Given the description of an element on the screen output the (x, y) to click on. 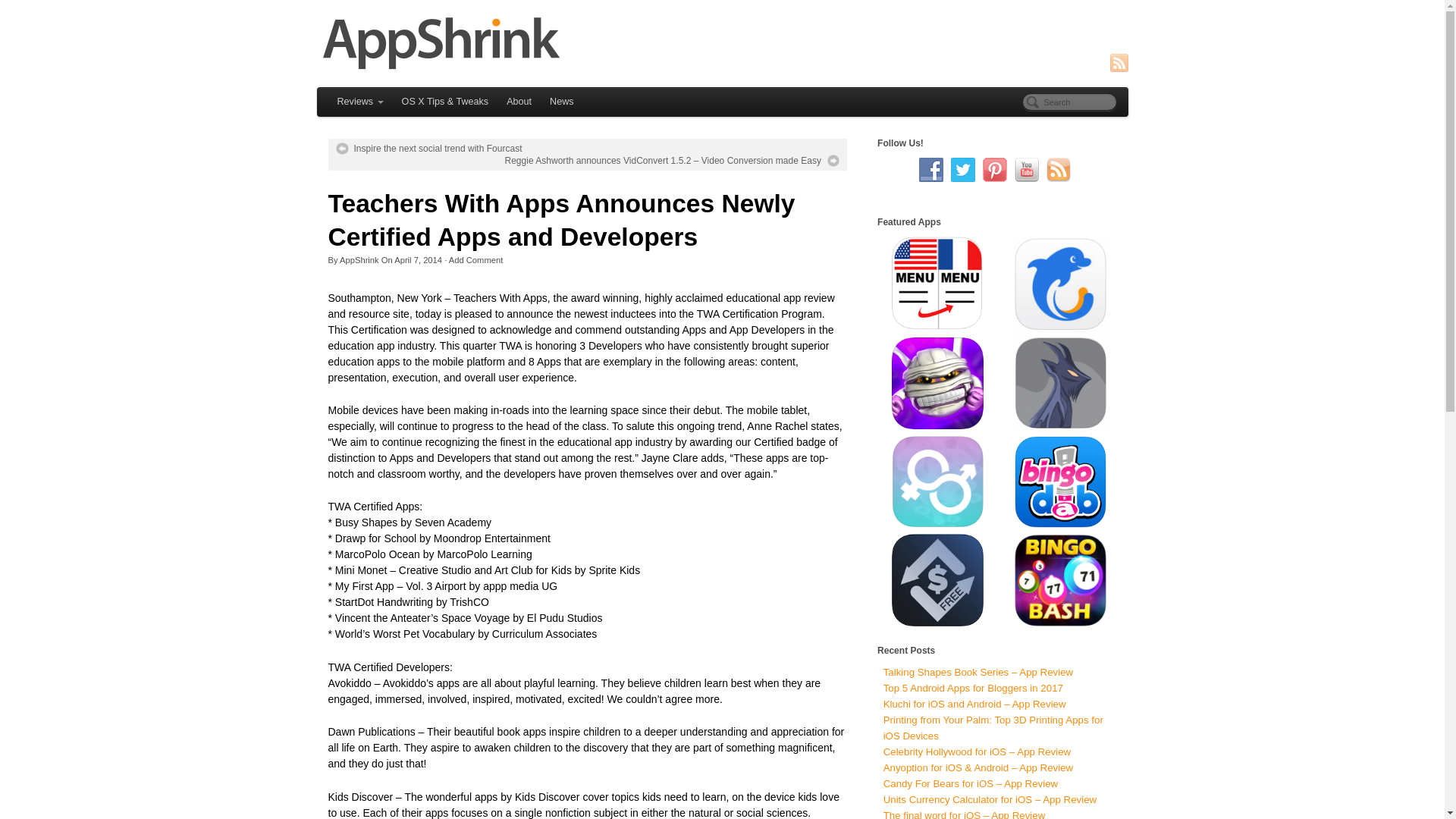
Reviews (359, 102)
Top 5 Android Apps for Bloggers in 2017 (972, 687)
Reviews (359, 102)
News (561, 102)
Inspire the next social trend with Fourcast (427, 148)
AppShrink (722, 41)
AppShrink (358, 259)
Posts by AppShrink (358, 259)
About (518, 102)
Add Comment (475, 259)
